Given the description of an element on the screen output the (x, y) to click on. 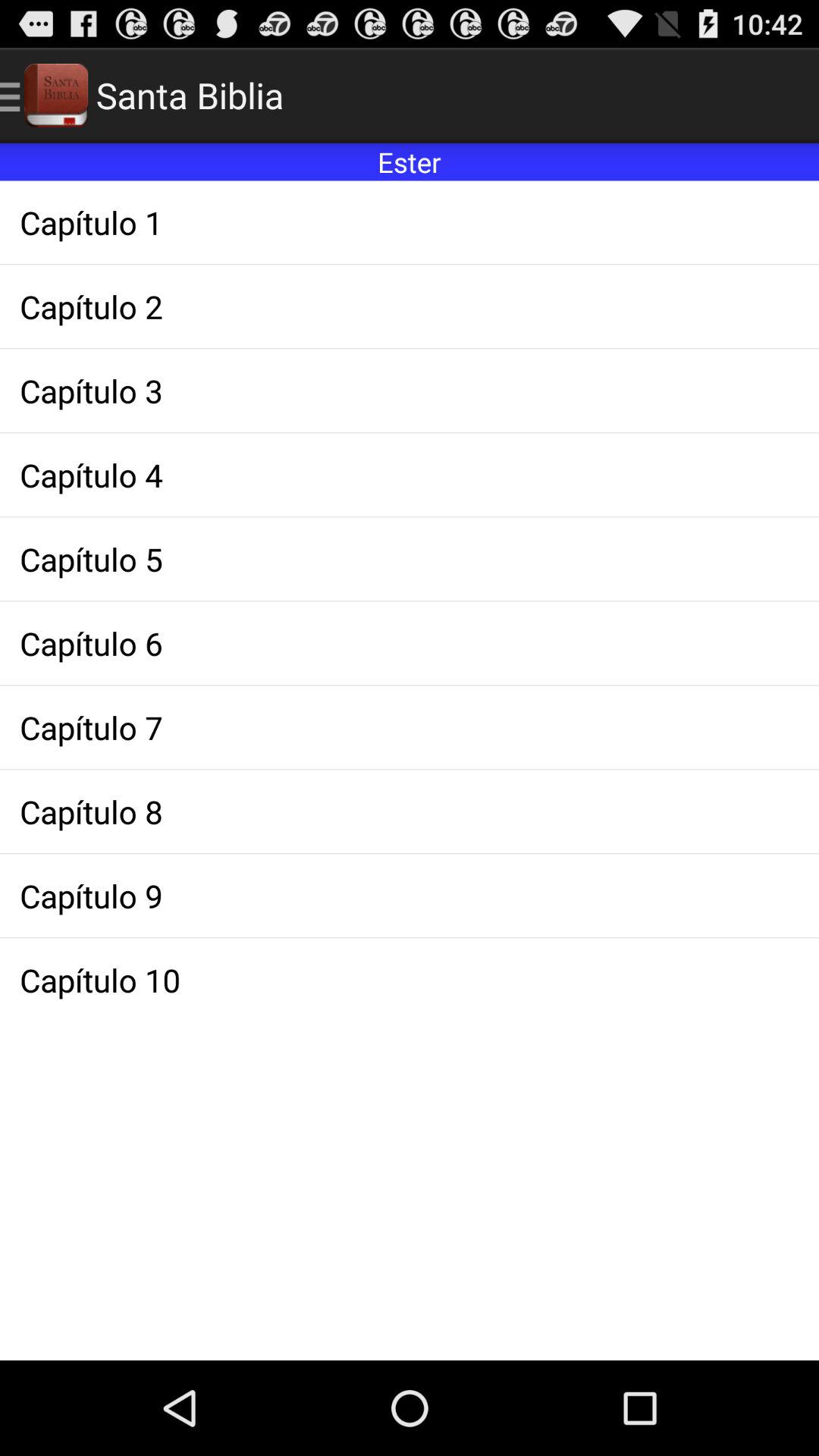
select icon at the bottom (409, 979)
